Given the description of an element on the screen output the (x, y) to click on. 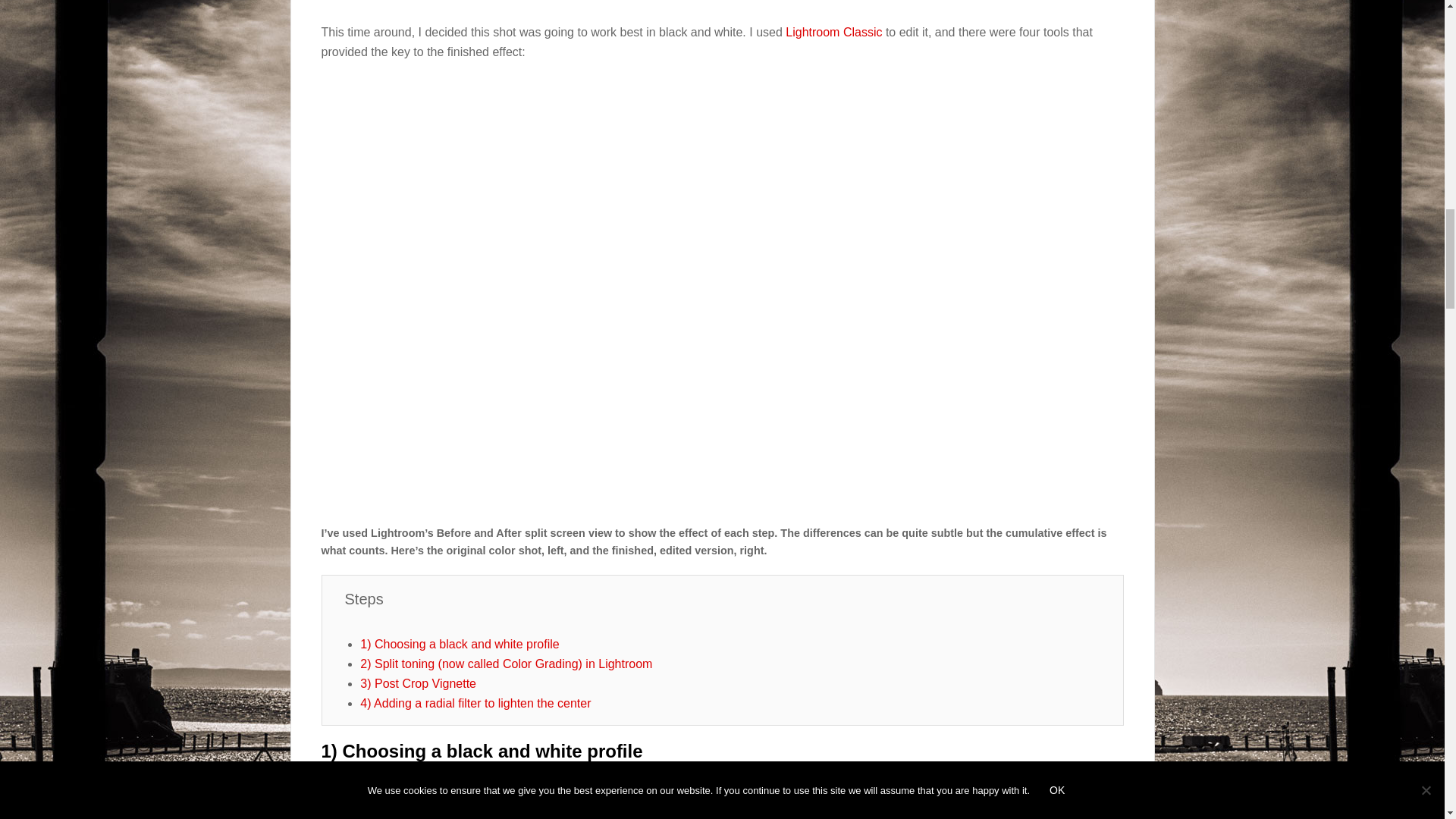
Lightroom Classic (834, 31)
